Given the description of an element on the screen output the (x, y) to click on. 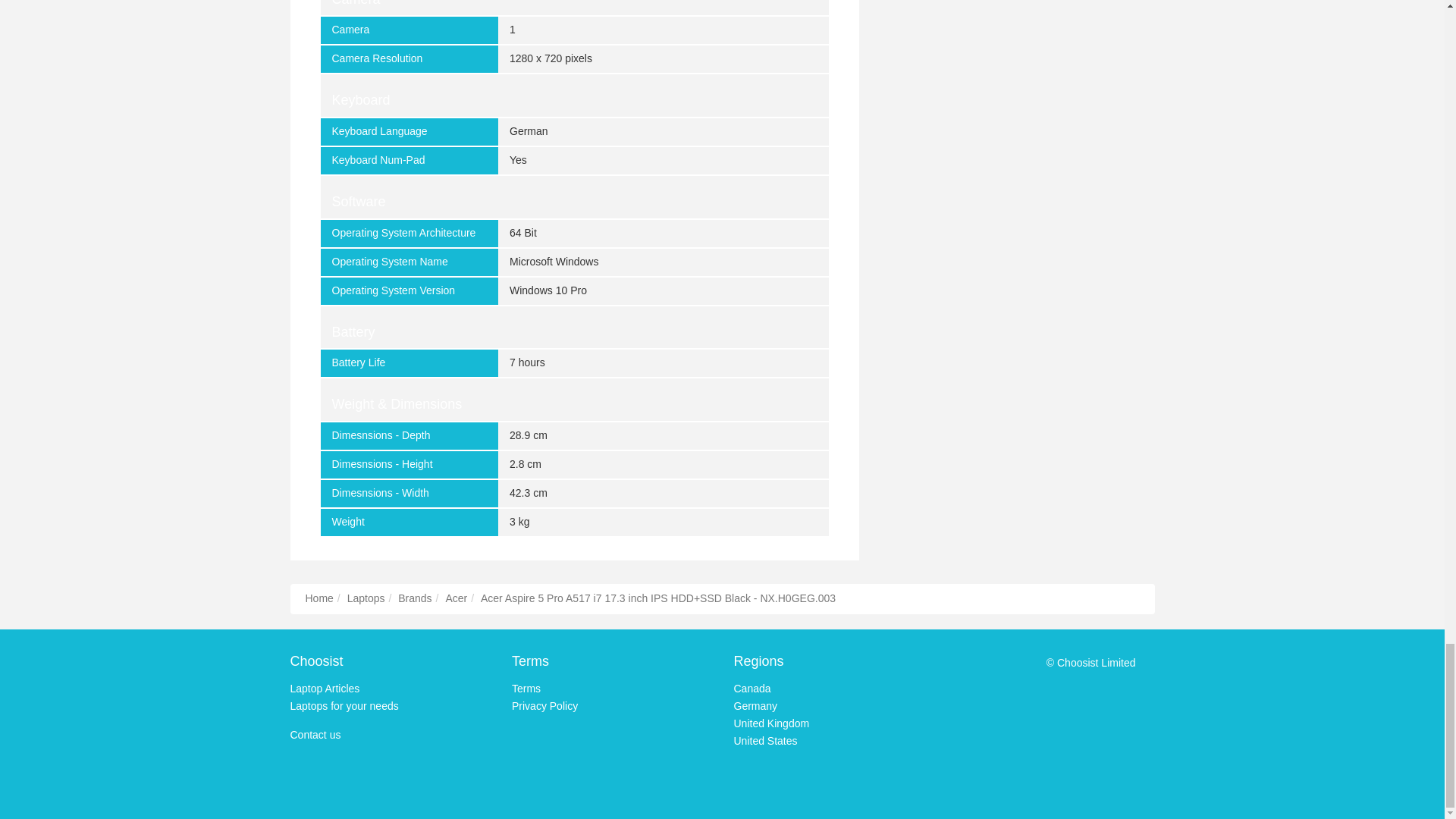
Laptops (366, 598)
Home (318, 598)
Brands (413, 598)
Acer (456, 598)
